Given the description of an element on the screen output the (x, y) to click on. 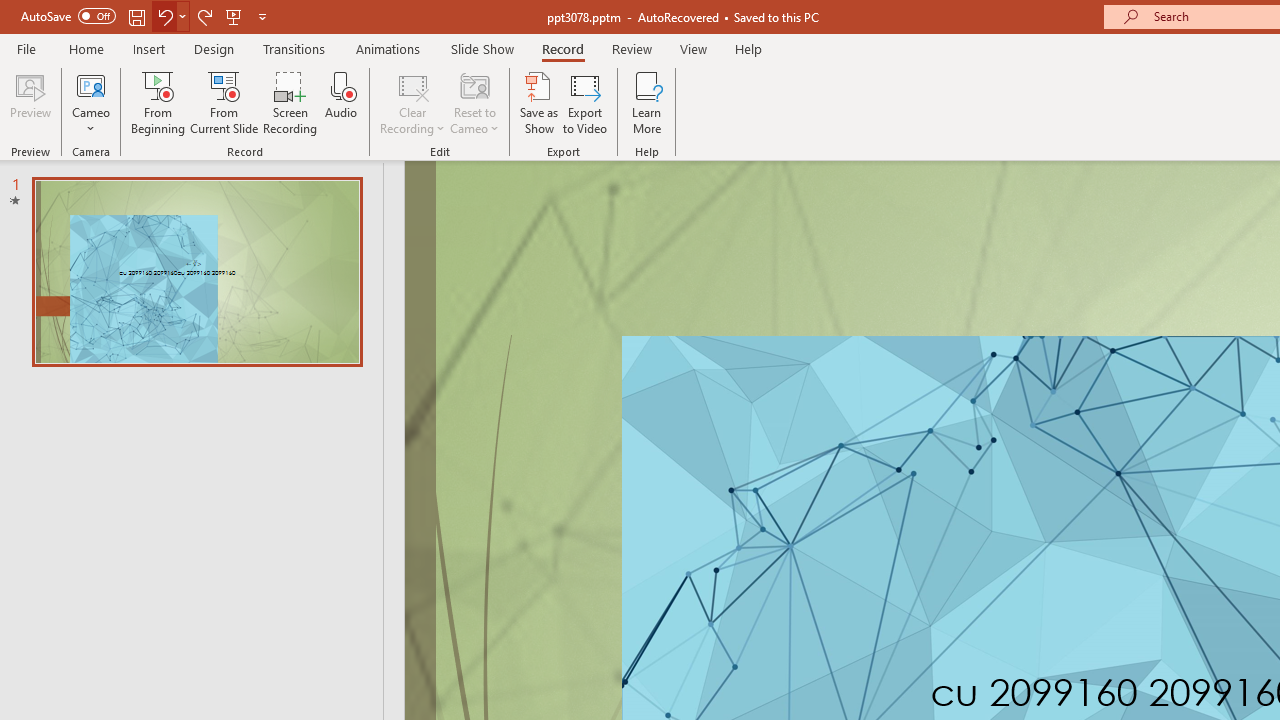
From Current Slide... (224, 102)
Reset to Cameo (474, 102)
Clear Recording (412, 102)
From Beginning... (158, 102)
Export to Video (585, 102)
Screen Recording (290, 102)
